Given the description of an element on the screen output the (x, y) to click on. 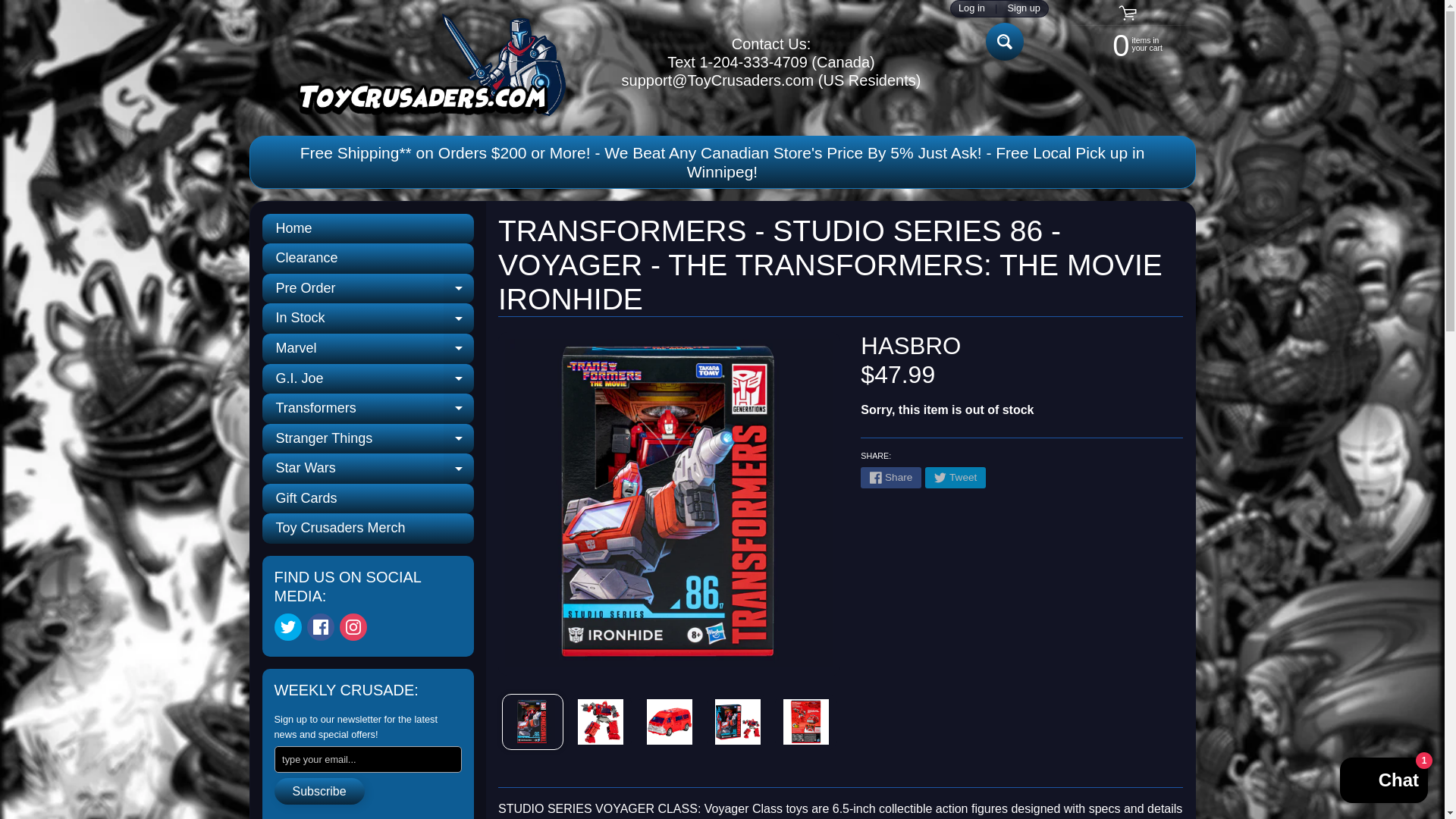
Hasbro (910, 345)
Expand child menu (459, 288)
Log in (970, 8)
Instagram (368, 348)
ToyCrusaders.com (352, 626)
Search (422, 61)
Expand child menu (1004, 41)
Search (459, 318)
Expand child menu (1004, 41)
